Given the description of an element on the screen output the (x, y) to click on. 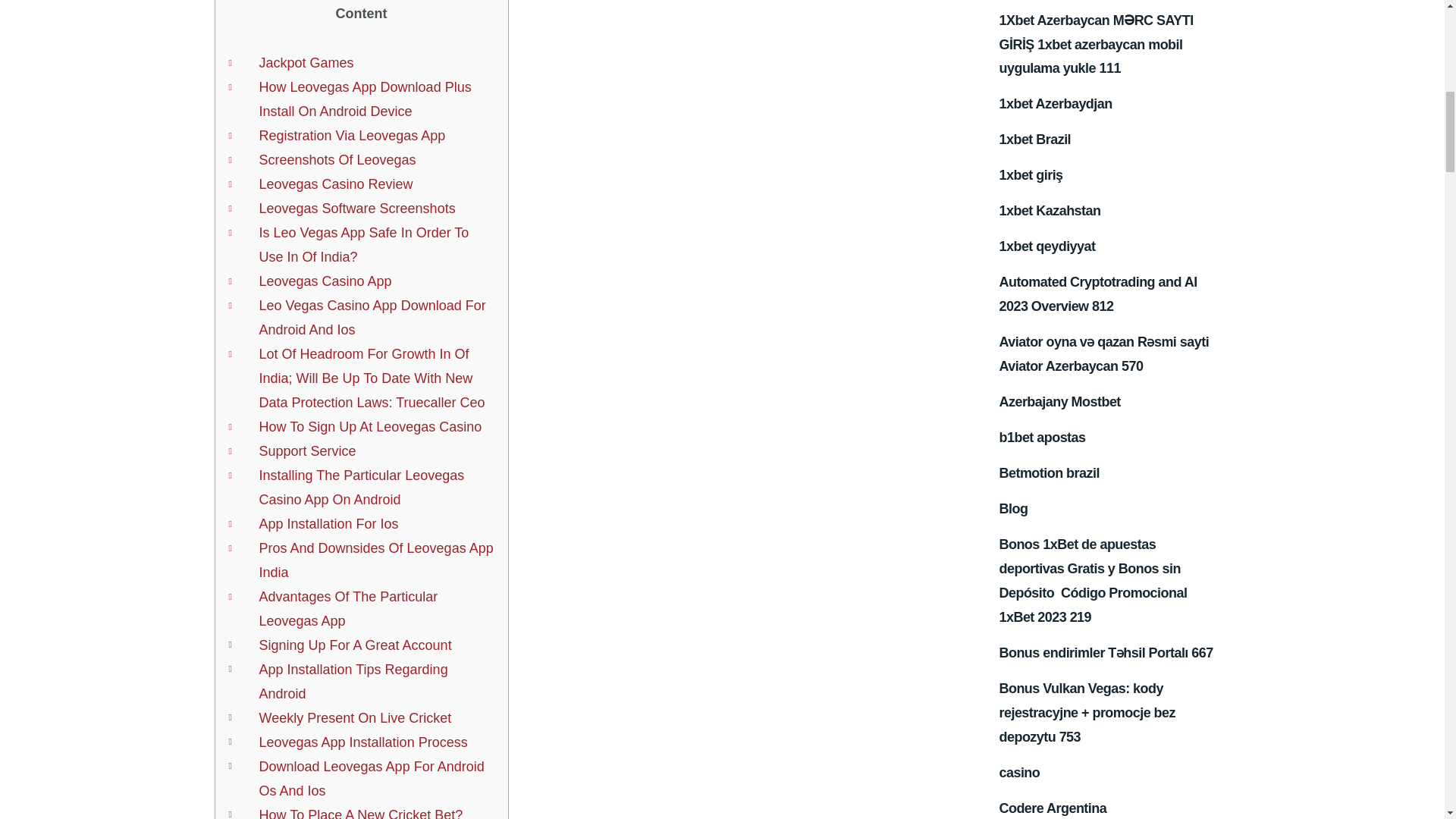
Jackpot Games (306, 62)
Leovegas Software Screenshots (356, 208)
Leovegas Casino Review (335, 183)
Registration Via Leovegas App (352, 135)
How Leovegas App Download Plus Install On Android Device (364, 98)
Screenshots Of Leovegas (336, 159)
